Given the description of an element on the screen output the (x, y) to click on. 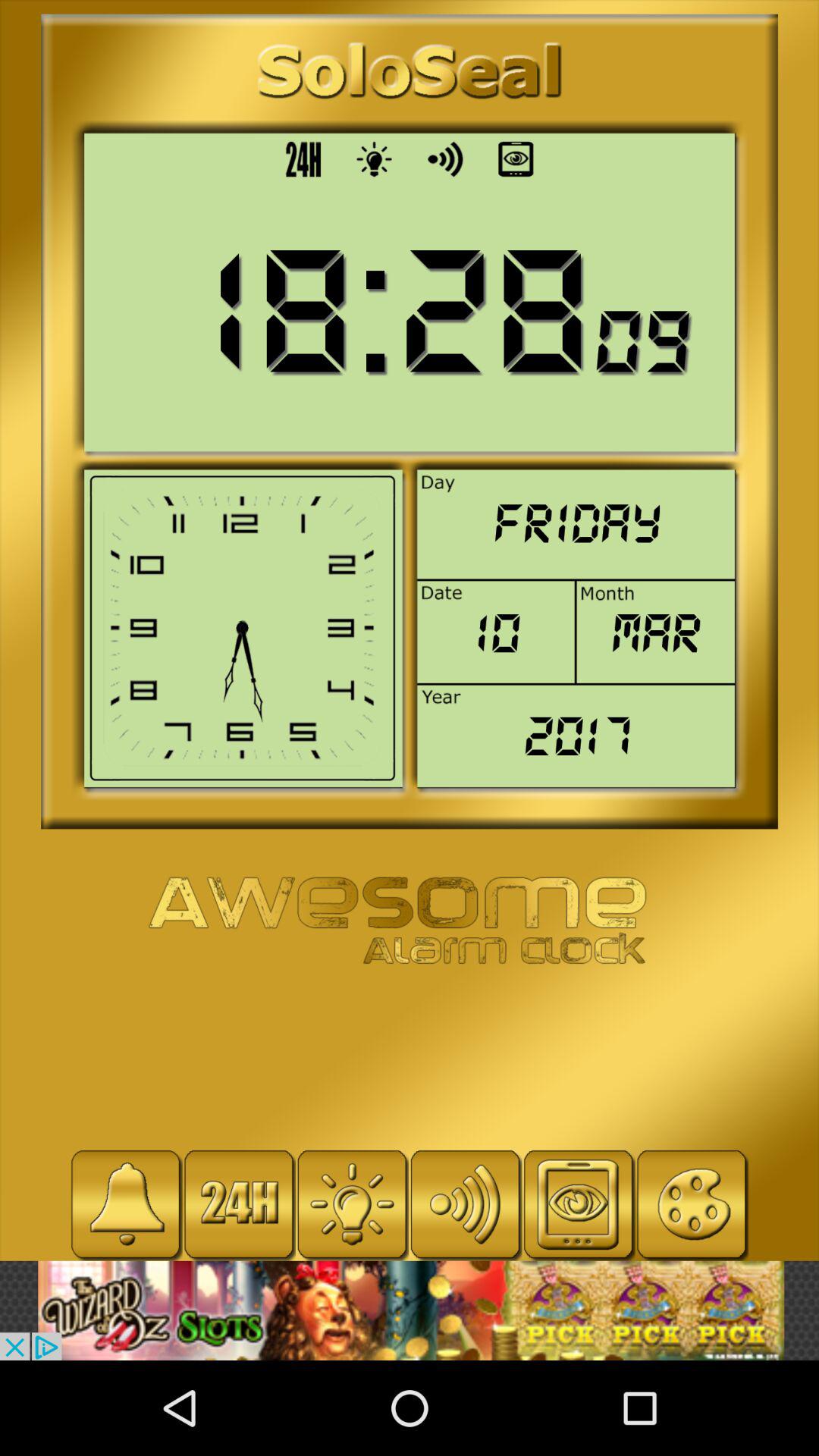
toggle the bright option (351, 1203)
